Given the description of an element on the screen output the (x, y) to click on. 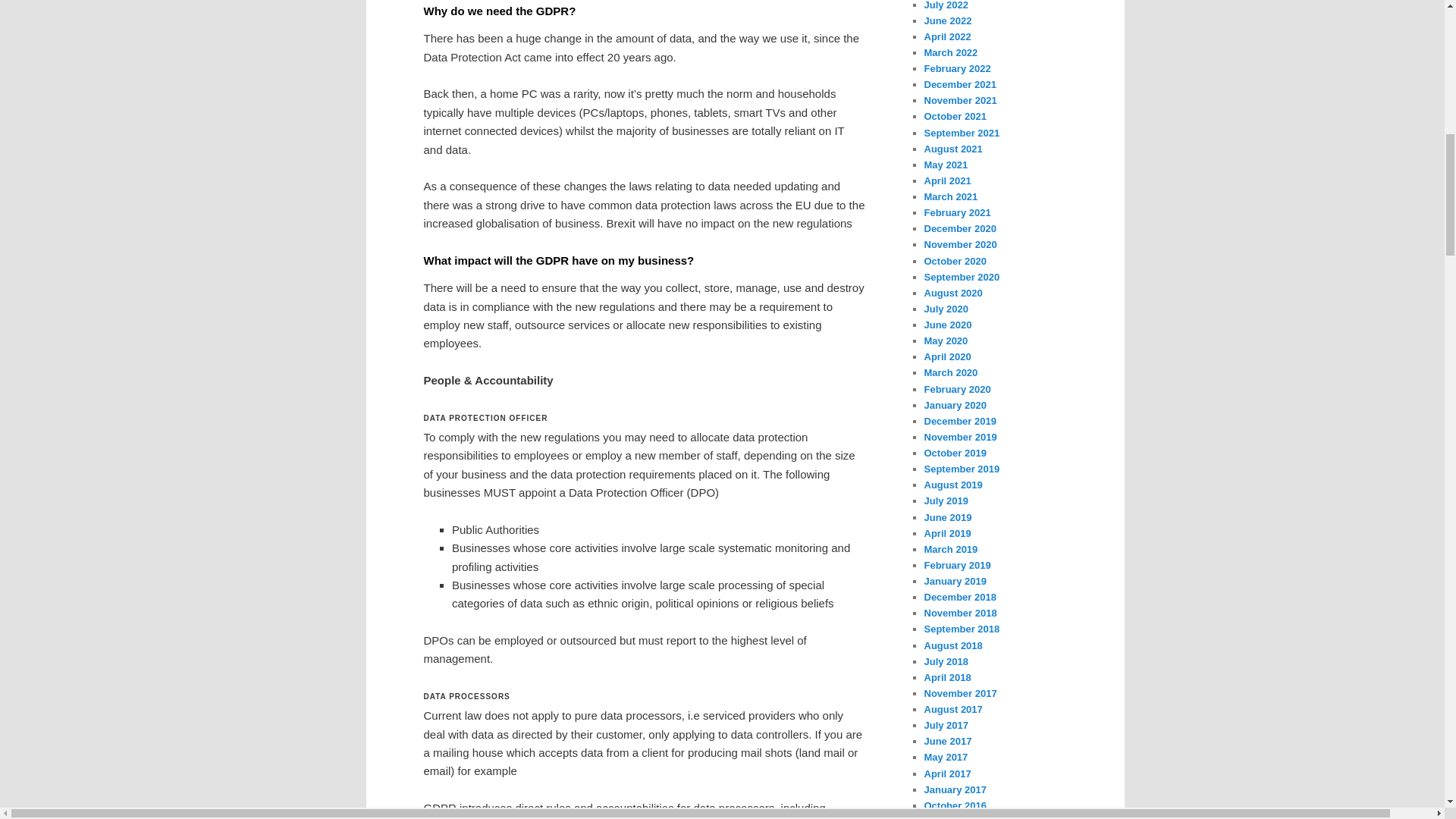
February 2022 (956, 68)
April 2022 (947, 36)
August 2021 (952, 148)
October 2021 (954, 116)
June 2022 (947, 20)
March 2022 (949, 52)
April 2021 (947, 180)
May 2021 (945, 164)
November 2021 (959, 100)
December 2021 (959, 84)
July 2022 (945, 5)
September 2021 (960, 132)
March 2021 (949, 196)
